Given the description of an element on the screen output the (x, y) to click on. 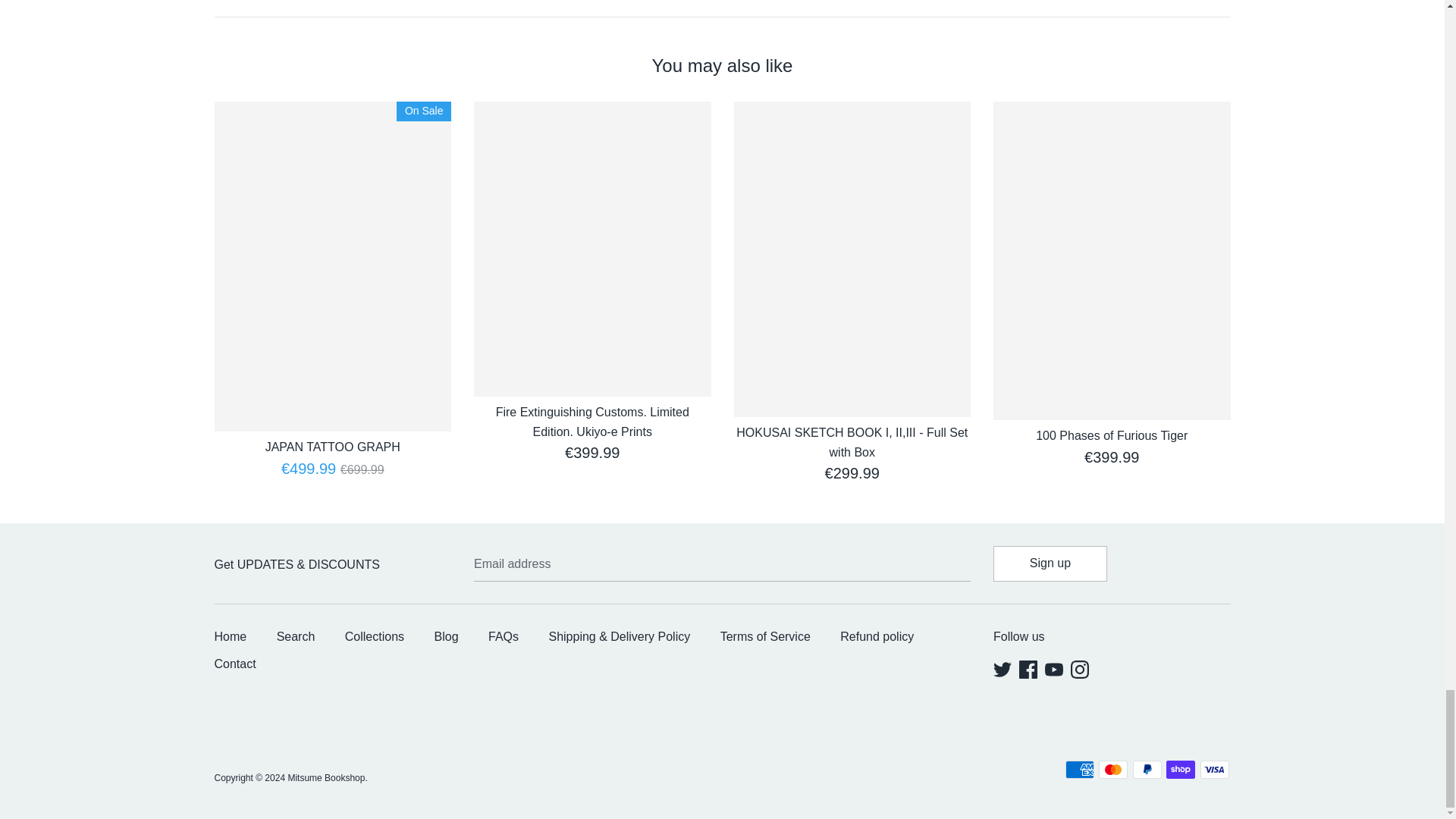
American Express (1079, 769)
